Given the description of an element on the screen output the (x, y) to click on. 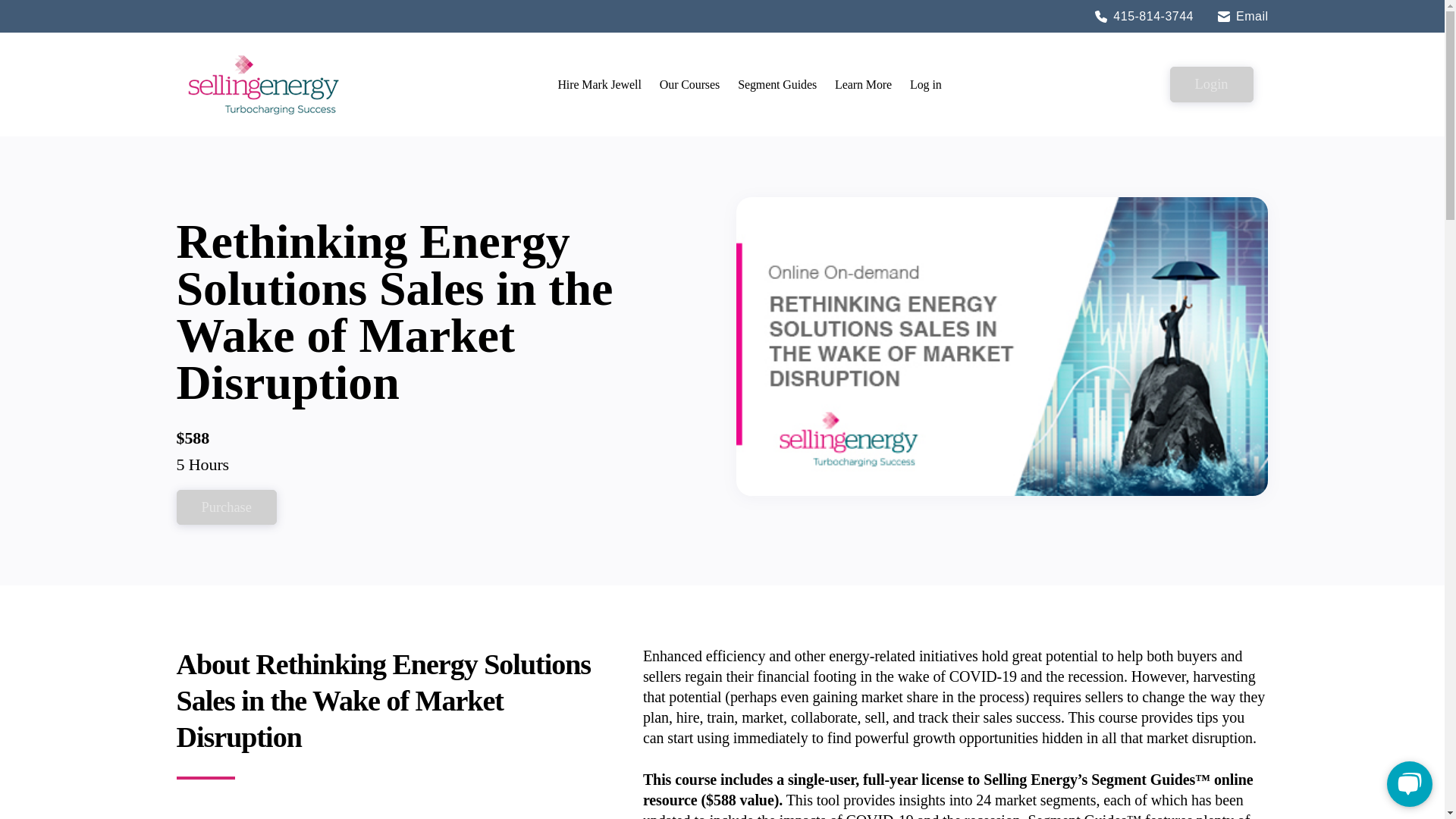
Login (1211, 83)
Hire Mark Jewell (598, 83)
Our Courses (689, 83)
Segment Guides (777, 83)
Login (1211, 83)
Log in (925, 83)
Email (1242, 16)
Purchase (226, 506)
Learn More (863, 83)
415-814-3744 (1143, 16)
